Given the description of an element on the screen output the (x, y) to click on. 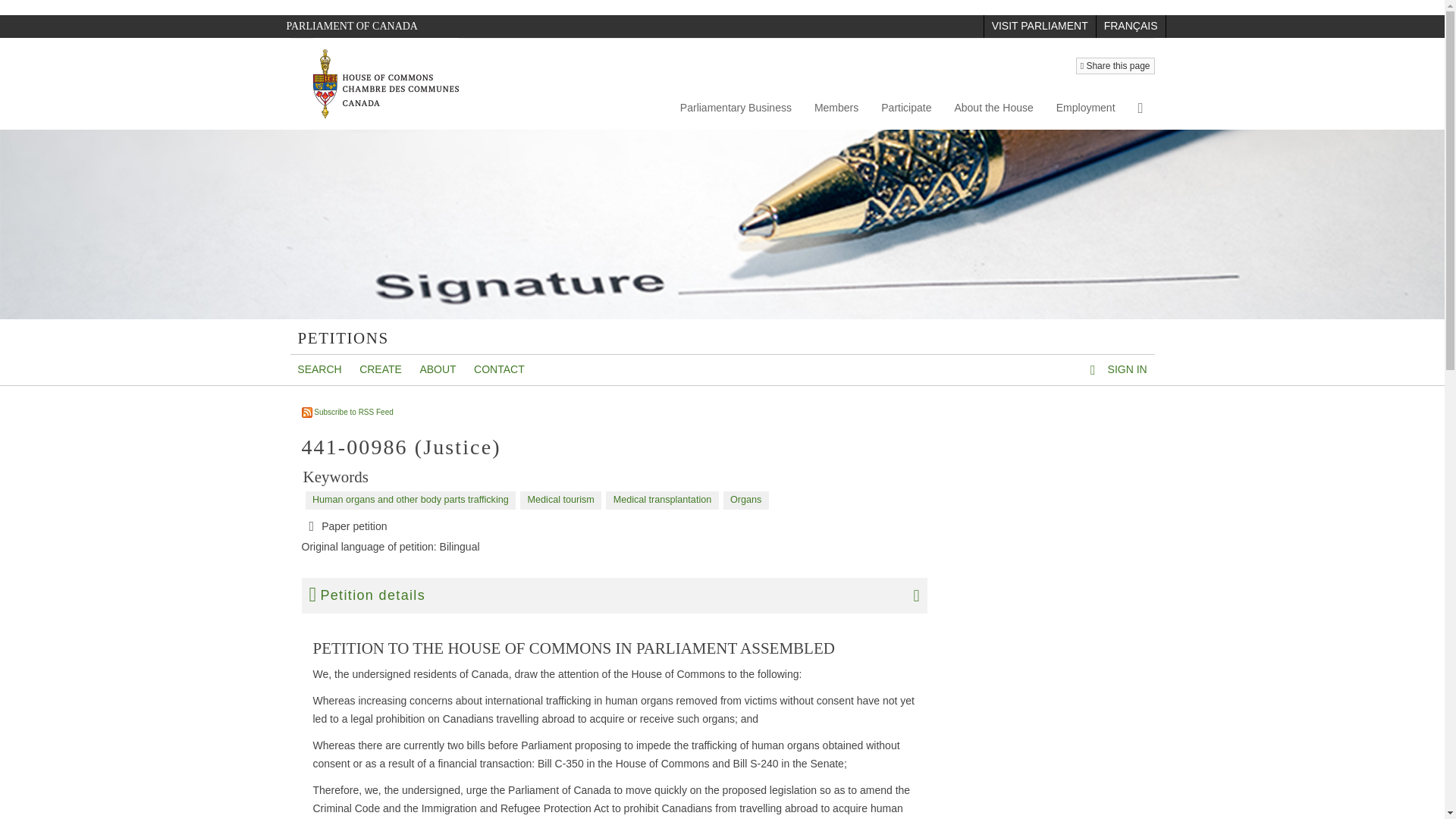
PARLIAMENT OF CANADA (352, 26)
RSS (347, 411)
VISIT PARLIAMENT (1040, 26)
Skip to main content (14, 21)
Parliamentary Business (735, 107)
Members (836, 107)
